Given the description of an element on the screen output the (x, y) to click on. 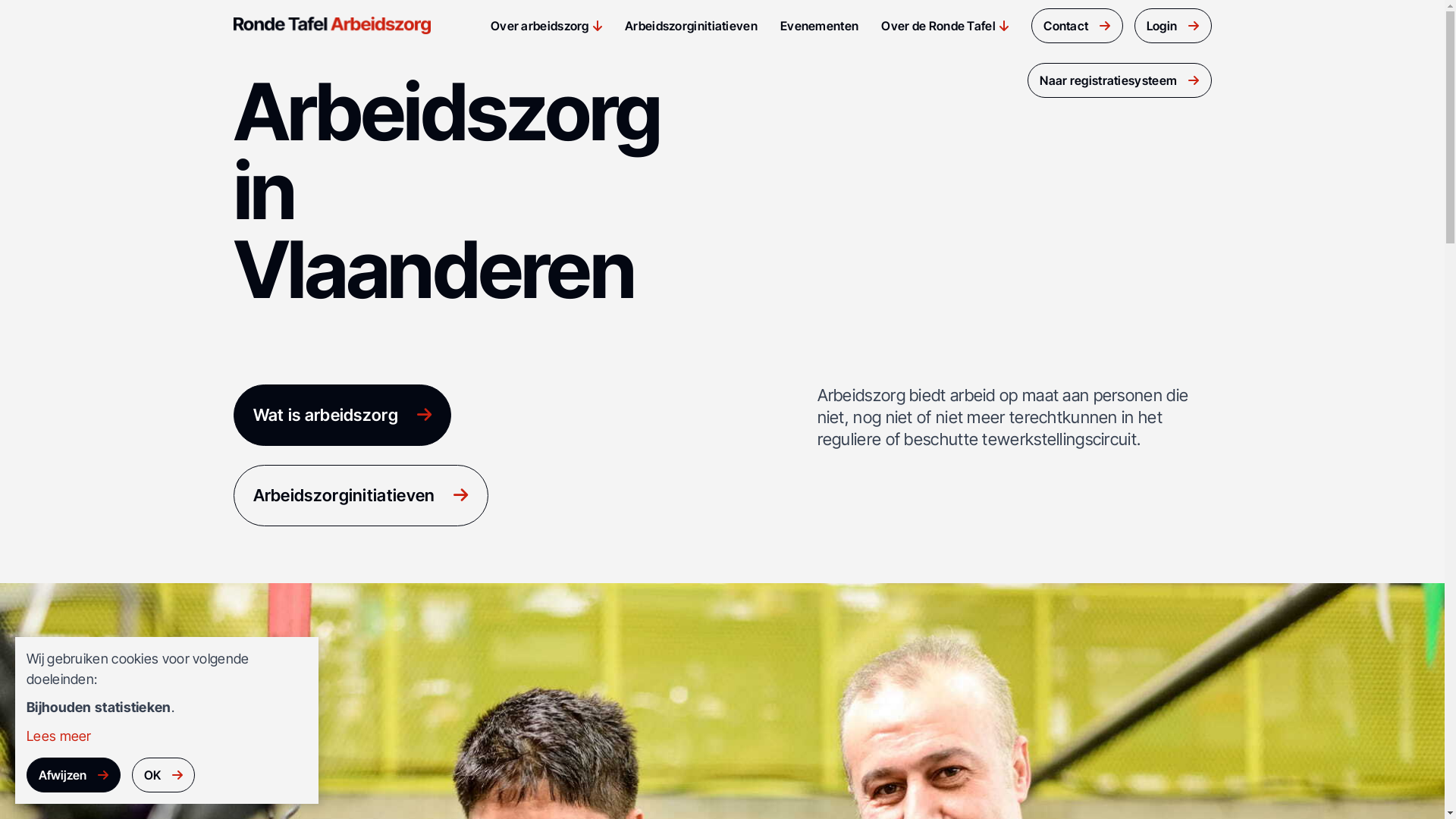
Login Element type: text (1172, 25)
Lees meer Element type: text (58, 735)
Arbeidszorginitiatieven Element type: text (360, 495)
Wat is arbeidszorg Element type: text (342, 414)
OK Element type: text (162, 774)
Over de Ronde Tafel Element type: text (938, 25)
Evenementen Element type: text (819, 25)
Naar registratiesysteem Element type: text (1119, 79)
Over arbeidszorg Element type: text (539, 25)
Arbeidszorginitiatieven Element type: text (690, 25)
Afwijzen Element type: text (73, 774)
Contact Element type: text (1076, 25)
